Given the description of an element on the screen output the (x, y) to click on. 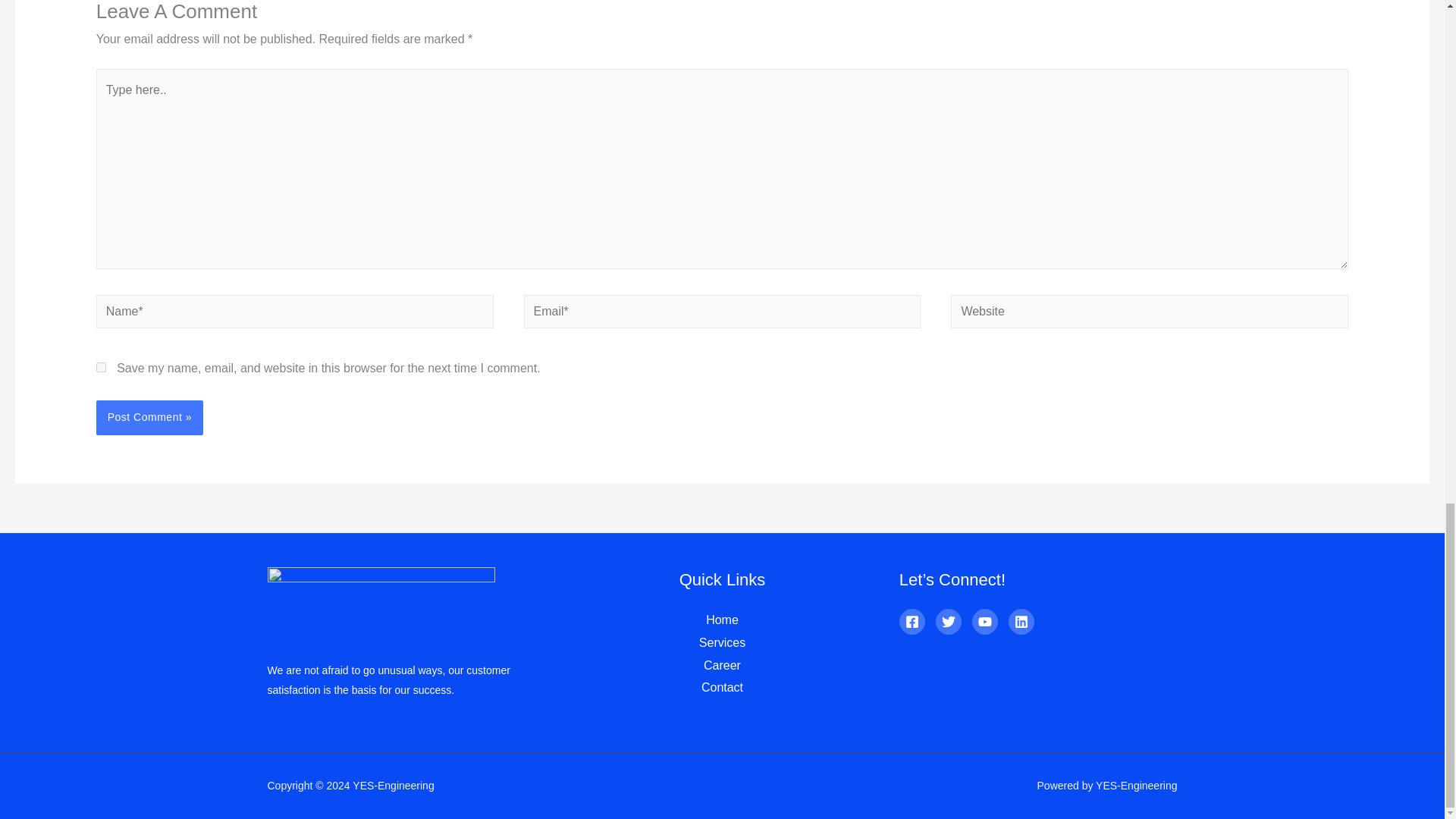
Home (722, 619)
Services (721, 642)
yes (101, 367)
Career (722, 665)
Contact (721, 686)
